Given the description of an element on the screen output the (x, y) to click on. 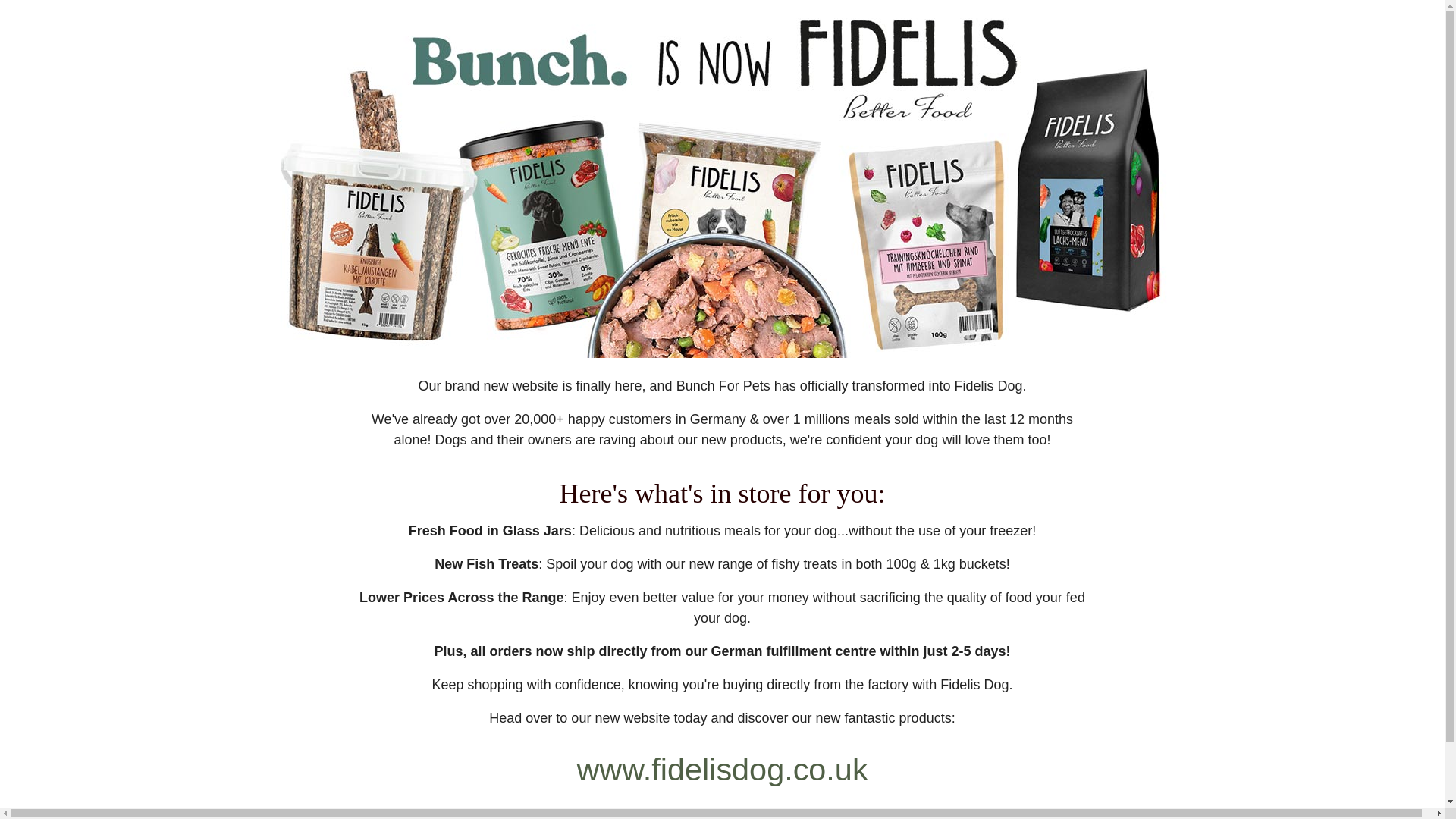
www.fidelisdog.co.uk (721, 769)
